Given the description of an element on the screen output the (x, y) to click on. 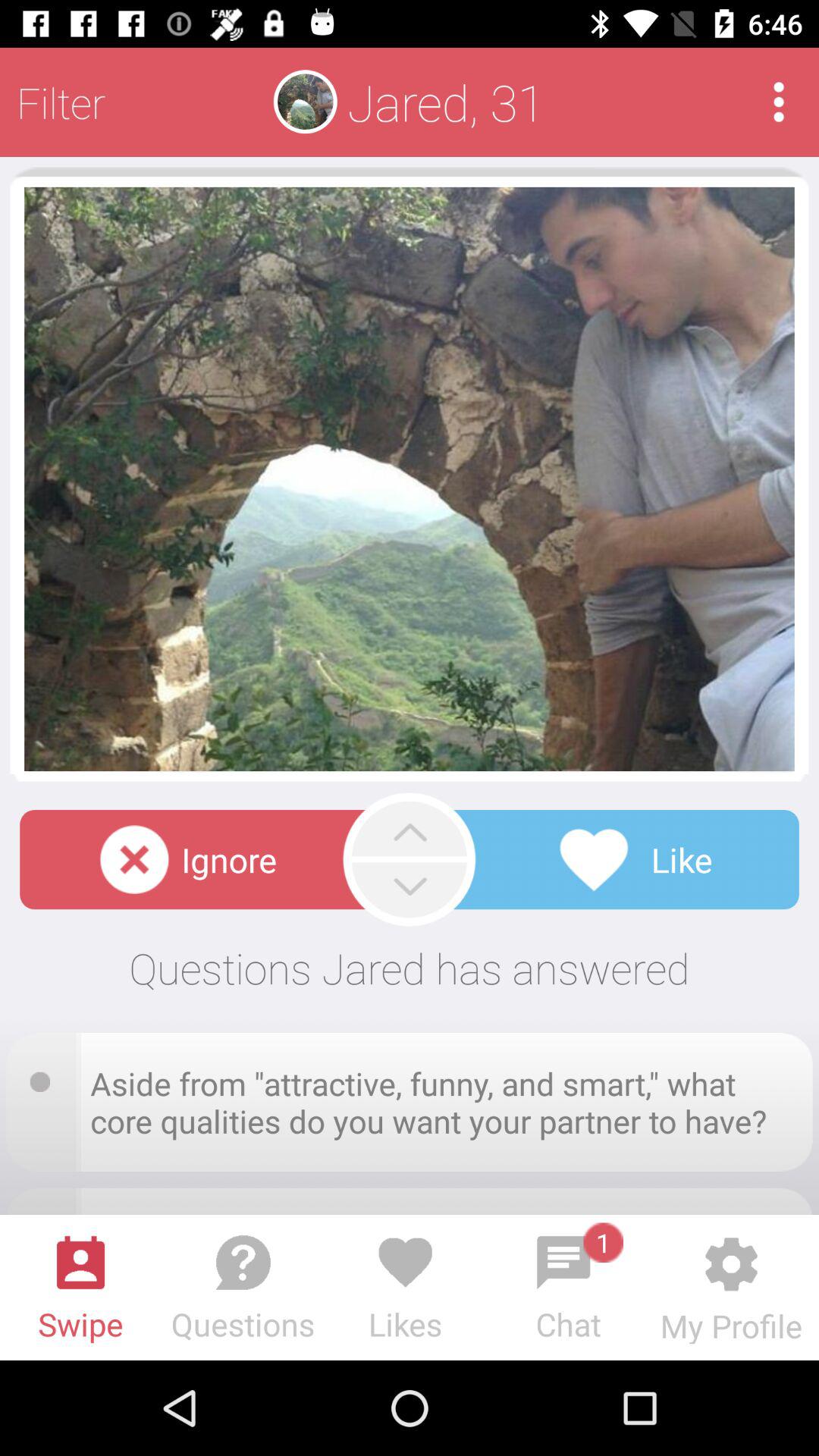
select icon to the right of jared, 31 app (778, 101)
